Given the description of an element on the screen output the (x, y) to click on. 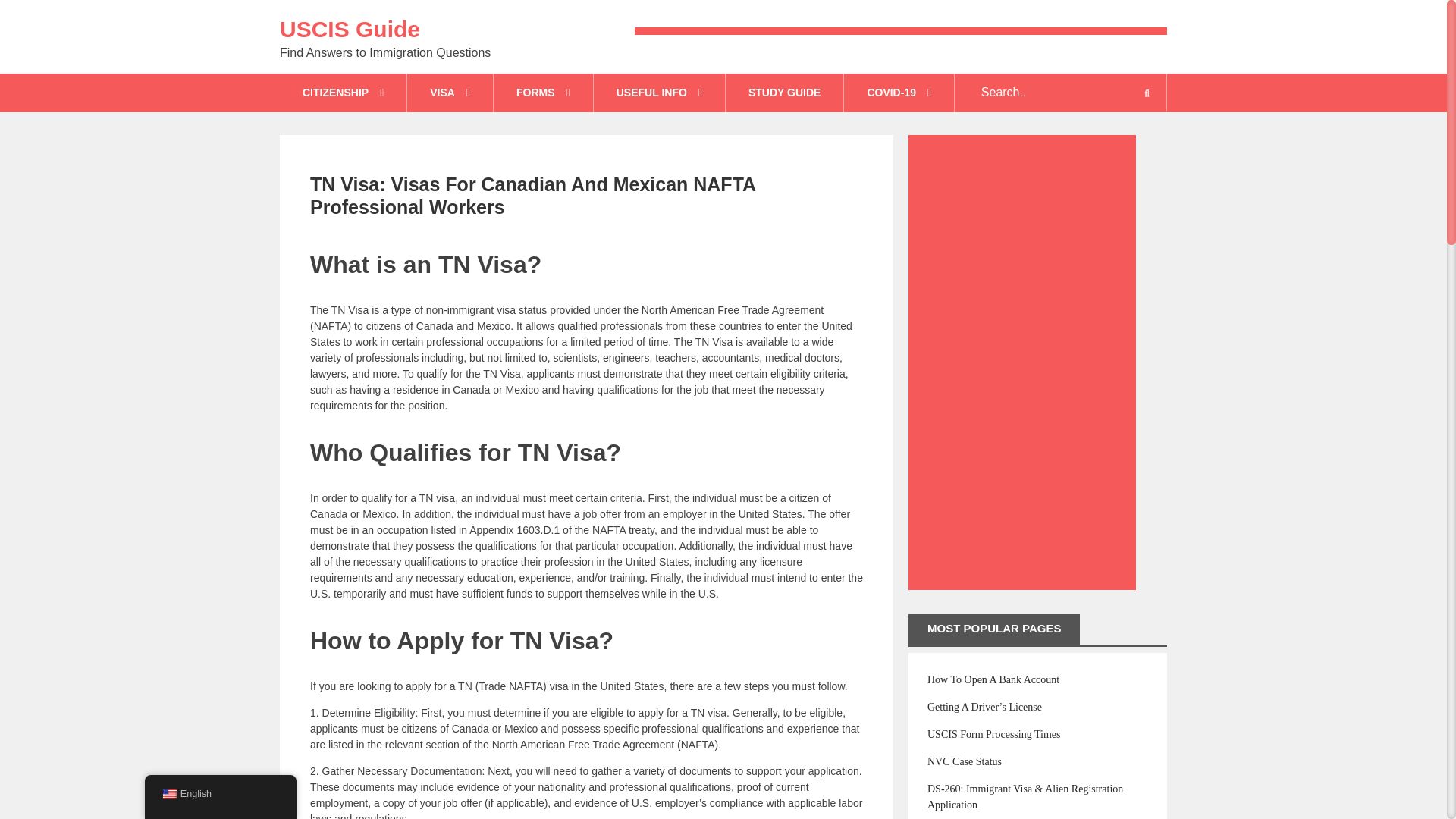
USCIS Guide (349, 28)
CITIZENSHIP (342, 92)
VISA (450, 92)
English (169, 793)
